Given the description of an element on the screen output the (x, y) to click on. 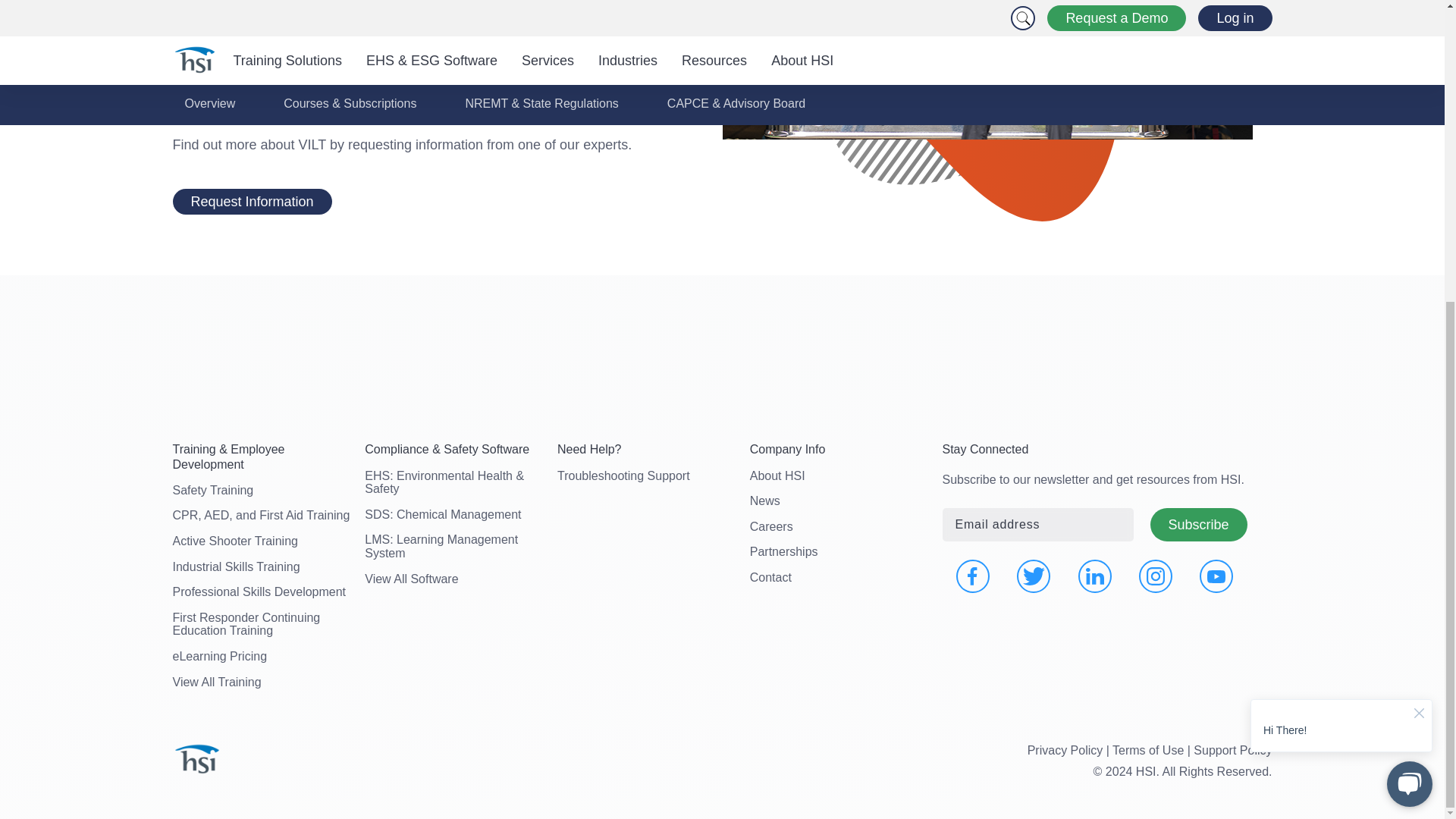
Opens in a new window (973, 575)
Opens in a new window (1216, 575)
Opens in a new window (1155, 575)
First Responder fire (987, 69)
Opens in a new window (1032, 575)
Opens in a new window (1095, 575)
Subscribe (1198, 524)
